Given the description of an element on the screen output the (x, y) to click on. 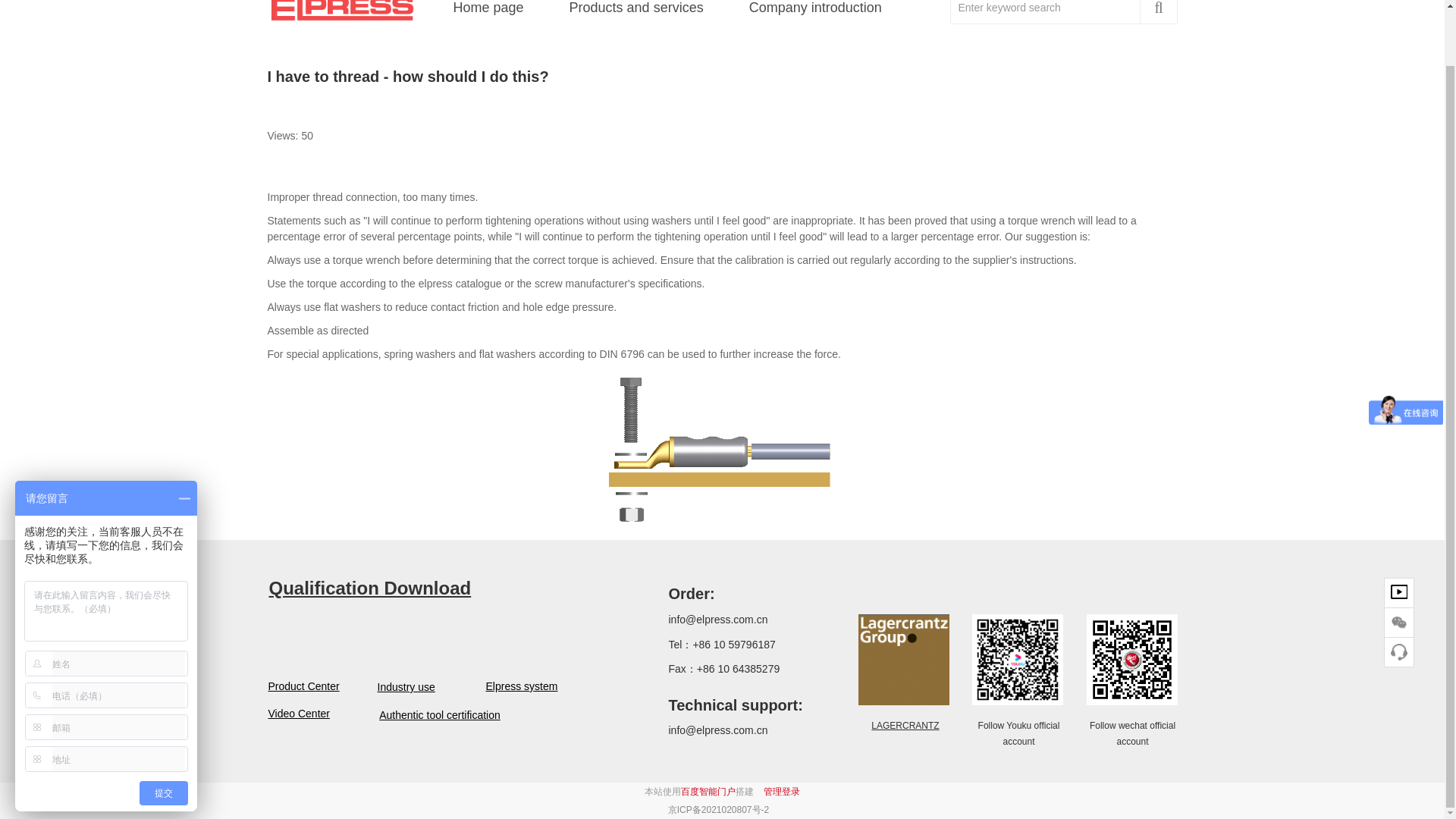
Company introduction (815, 13)
Home page (488, 13)
Authentic tool certification (439, 715)
Qualification Download (368, 588)
Elpress system (518, 686)
Industry use (403, 687)
Products and services (636, 13)
Product Center (294, 686)
Video Center (294, 713)
LAGERCRANTZ (904, 725)
